Given the description of an element on the screen output the (x, y) to click on. 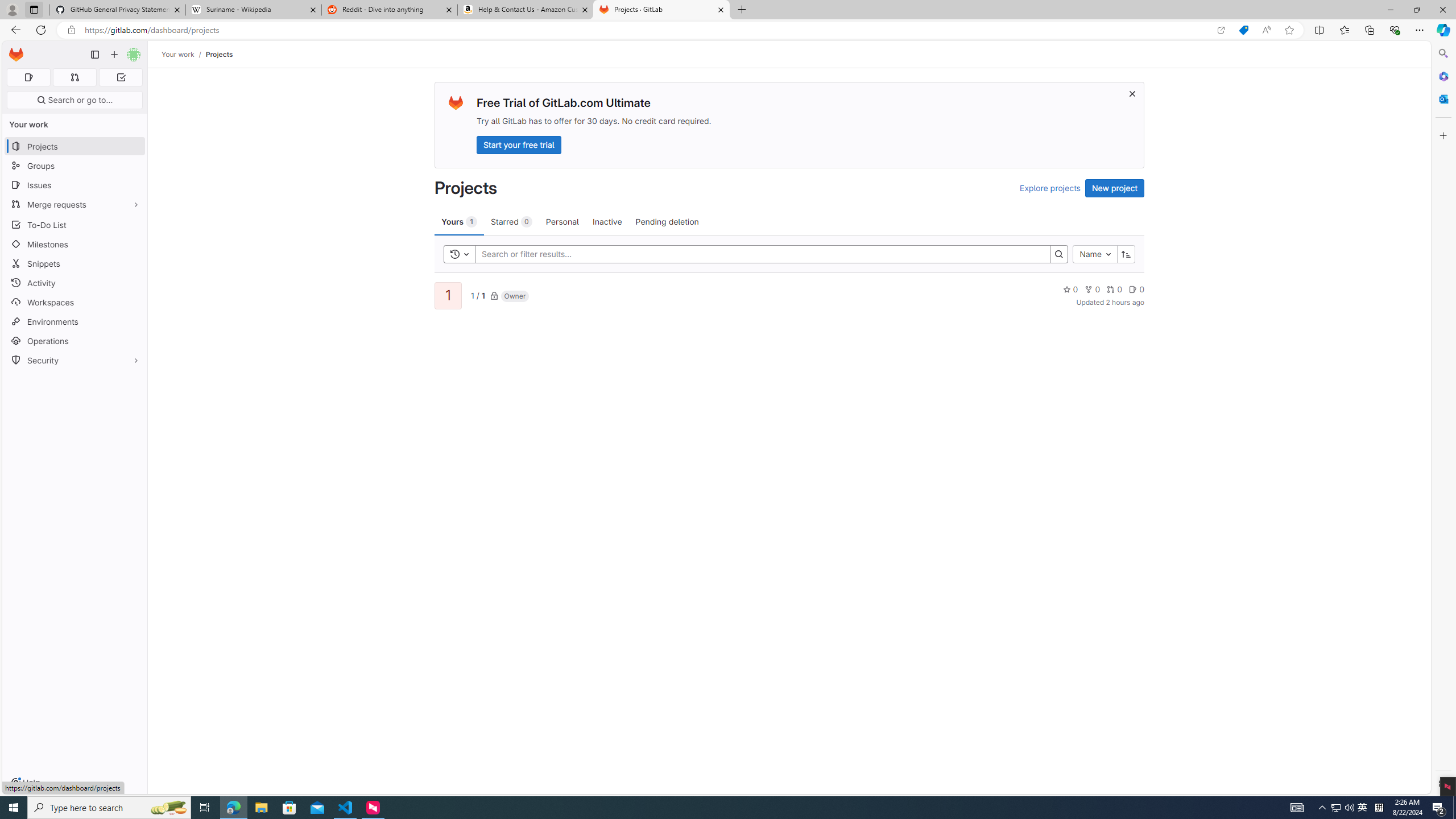
0 (1136, 288)
Class: s16 gl-icon gl-button-icon  (1132, 93)
Groups (74, 165)
Snippets (74, 262)
Assigned issues 0 (28, 76)
11 / 1Owner0000Updated 2 hours ago (788, 295)
Operations (74, 340)
Toggle history (460, 253)
Create new... (113, 54)
